Given the description of an element on the screen output the (x, y) to click on. 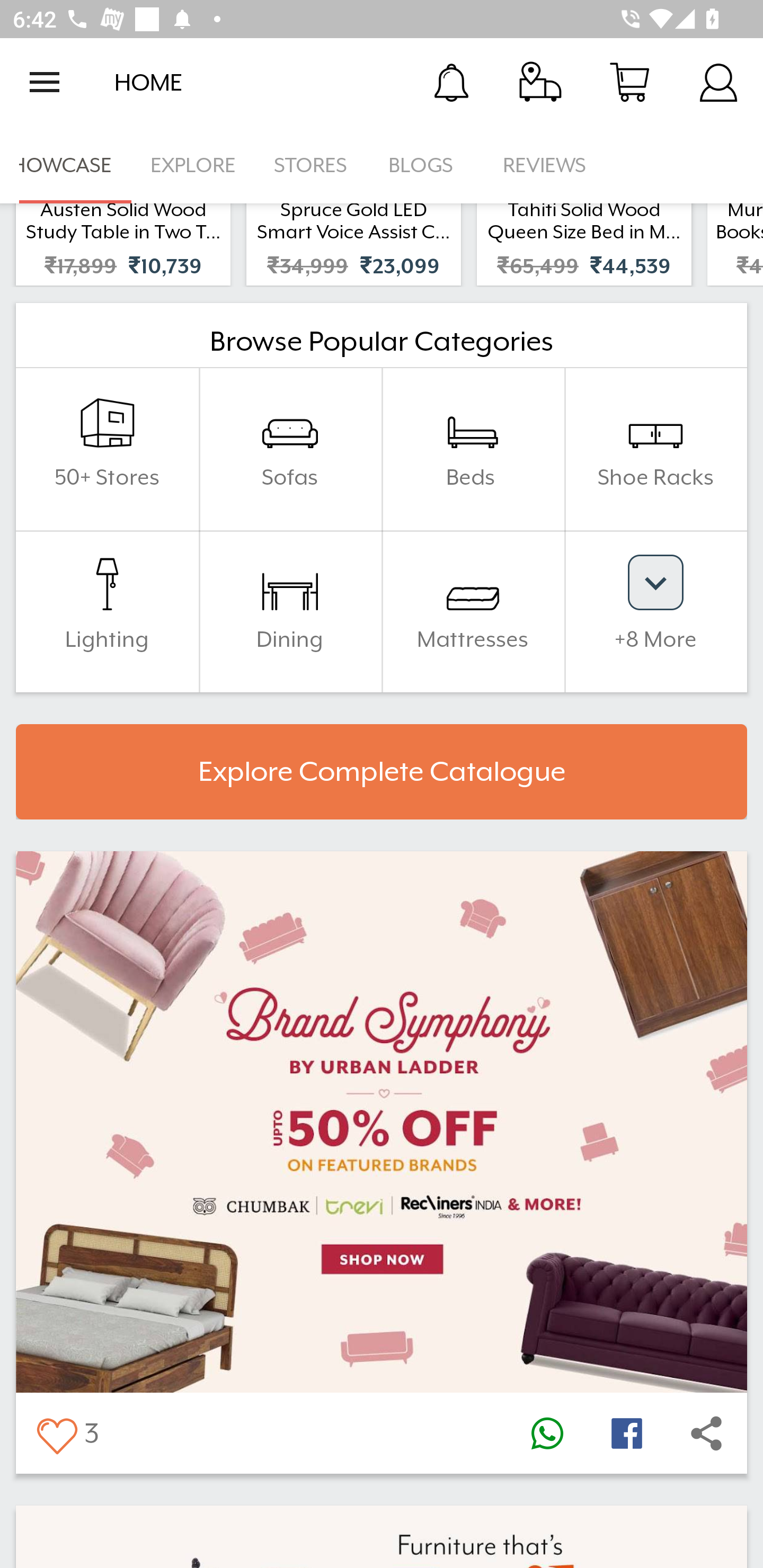
Open navigation drawer (44, 82)
Notification (450, 81)
Track Order (540, 81)
Cart (629, 81)
Account Details (718, 81)
SHOWCASE (65, 165)
EXPLORE (192, 165)
STORES (311, 165)
BLOGS (426, 165)
REVIEWS (544, 165)
50+ Stores (106, 449)
Sofas (289, 449)
Beds  (473, 449)
Shoe Racks (655, 449)
Lighting (106, 611)
Dining (289, 611)
Mattresses (473, 611)
 +8 More (655, 611)
Explore Complete Catalogue (381, 772)
 (55, 1432)
 (547, 1432)
 (626, 1432)
 (706, 1432)
